Given the description of an element on the screen output the (x, y) to click on. 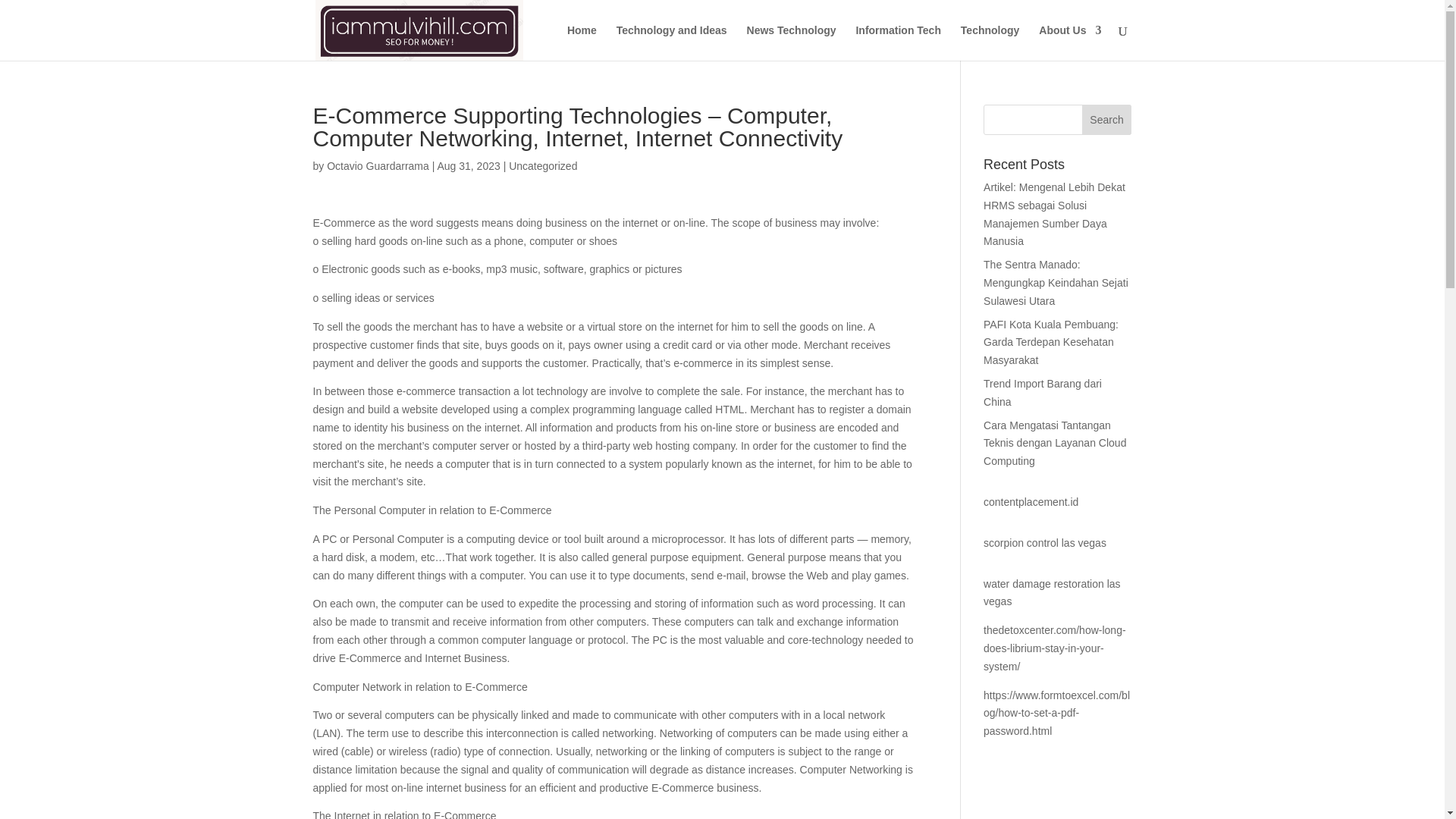
Technology (990, 42)
News Technology (790, 42)
water damage restoration las vegas (1052, 593)
Octavio Guardarrama (377, 165)
contentplacement.id (1031, 501)
About Us (1069, 42)
Search (1106, 119)
